Given the description of an element on the screen output the (x, y) to click on. 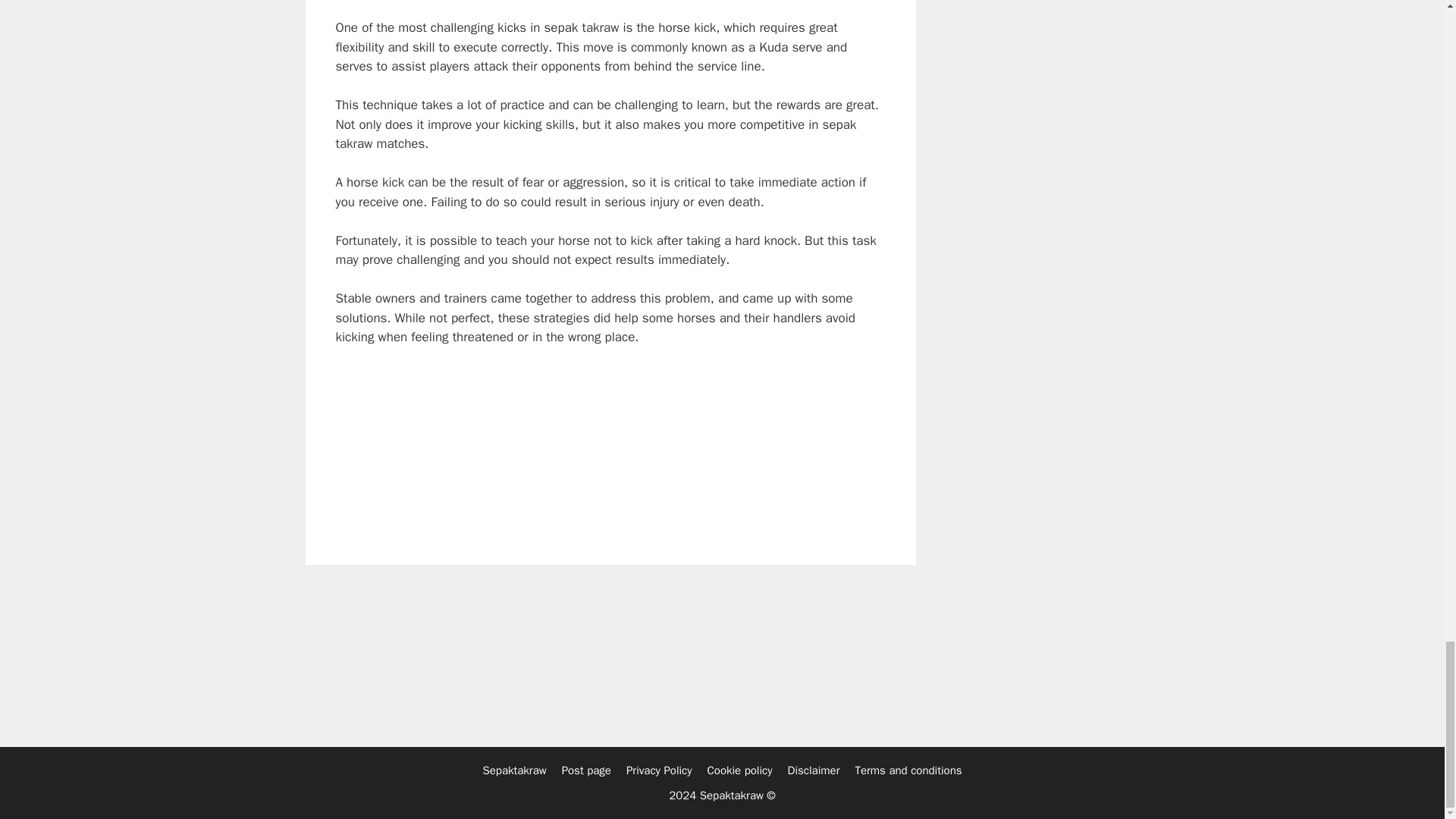
Cookie policy (740, 770)
Terms and conditions (907, 770)
Disclaimer (813, 770)
Post page (586, 770)
Privacy Policy (659, 770)
Sepaktakraw (513, 770)
